Given the description of an element on the screen output the (x, y) to click on. 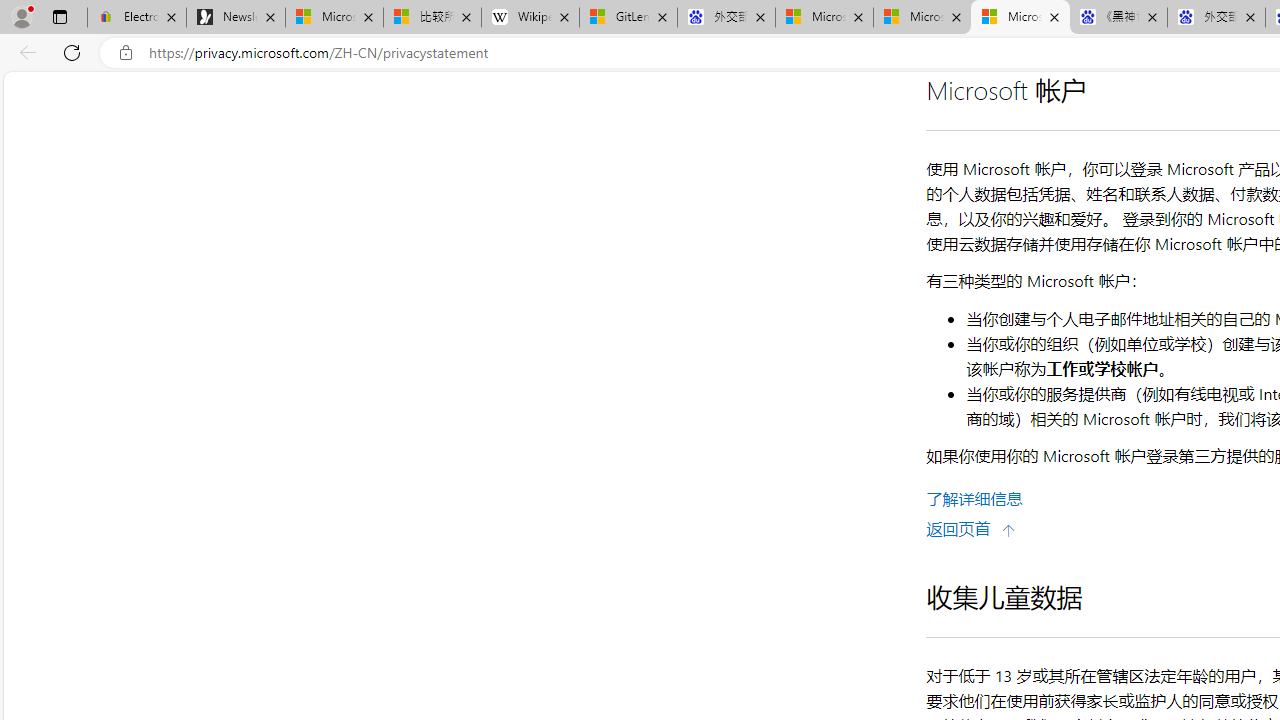
Newsletter Sign Up (235, 17)
